Given the description of an element on the screen output the (x, y) to click on. 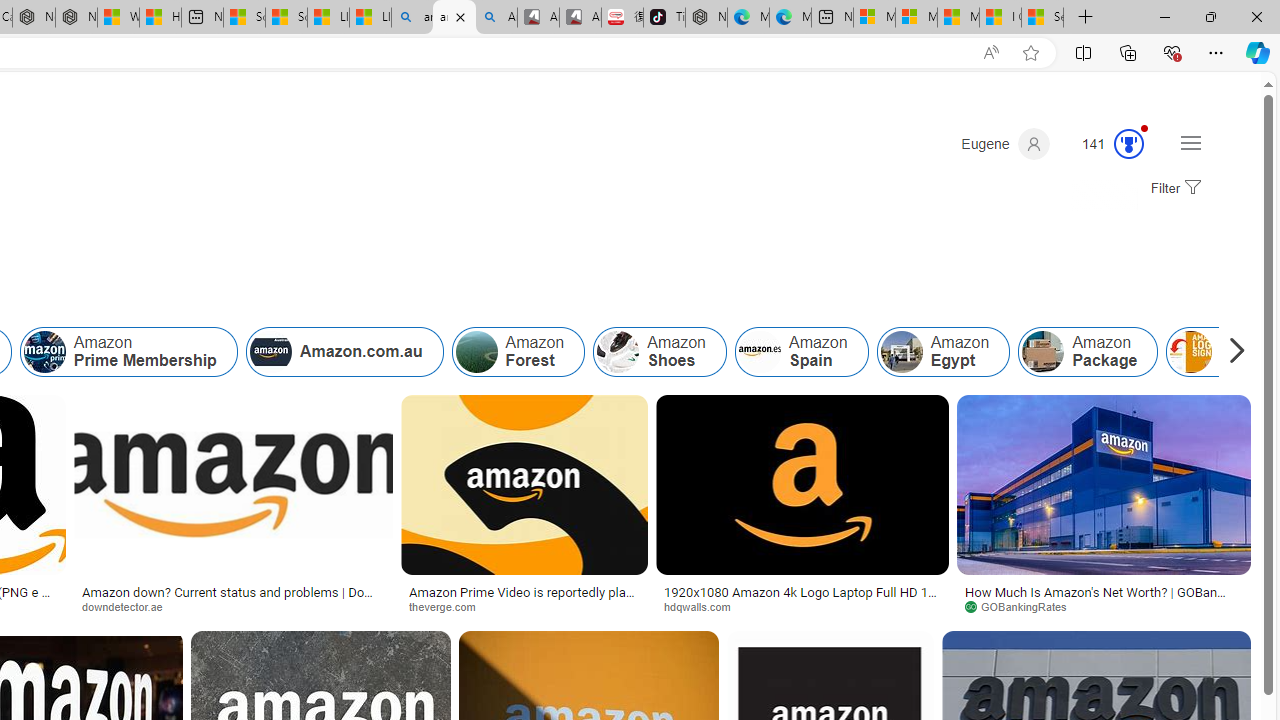
Scroll right (1231, 351)
Amazon Spain (759, 351)
Microsoft account | Privacy (916, 17)
GOBankingRates (1023, 605)
Amazon Egypt (901, 351)
GOBankingRates (1103, 606)
Image result for amazon (1103, 485)
Amazon.com.au (270, 351)
Huge shark washes ashore at New York City beach | Watch (159, 17)
